Given the description of an element on the screen output the (x, y) to click on. 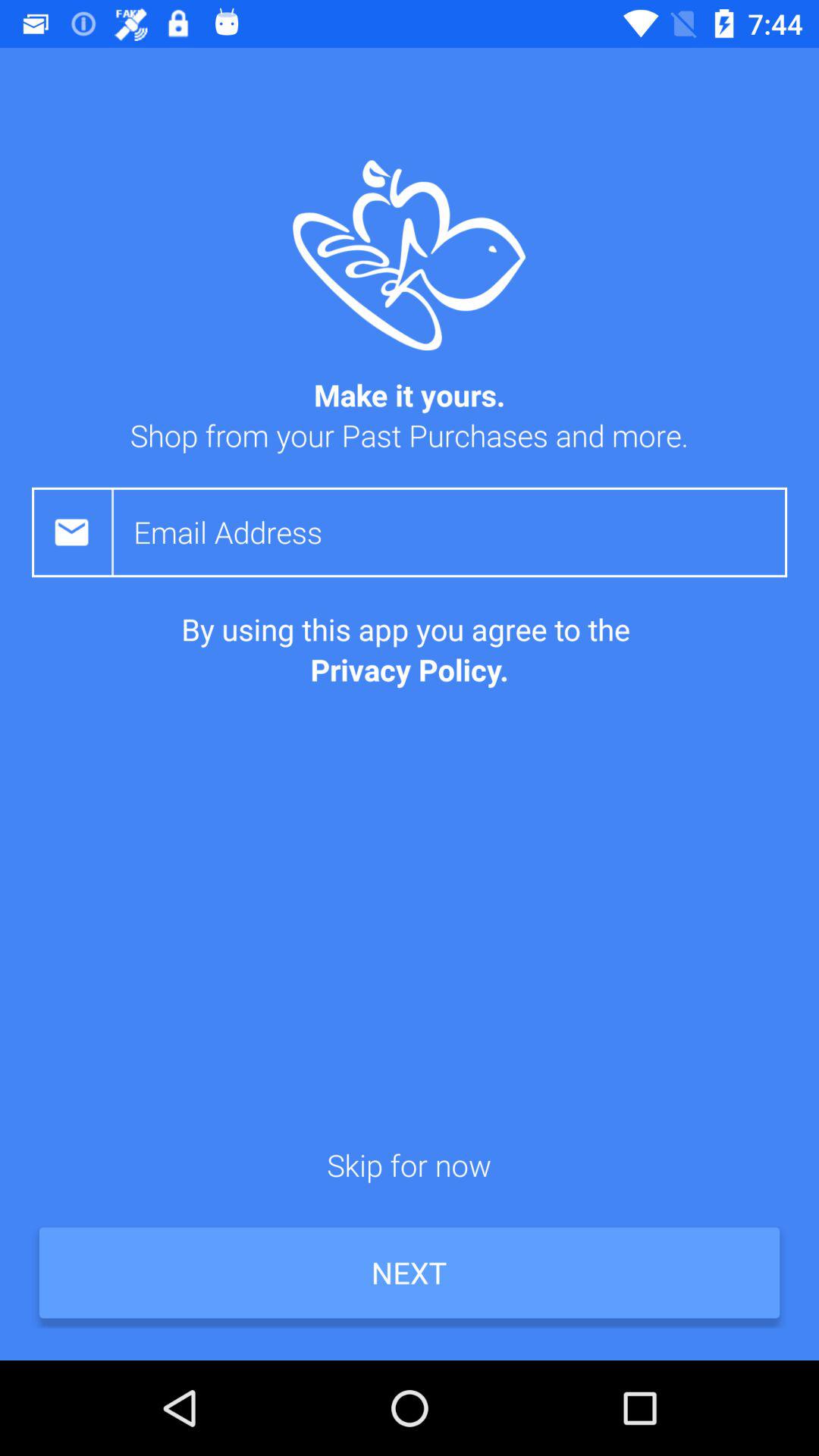
type email (460, 531)
